Given the description of an element on the screen output the (x, y) to click on. 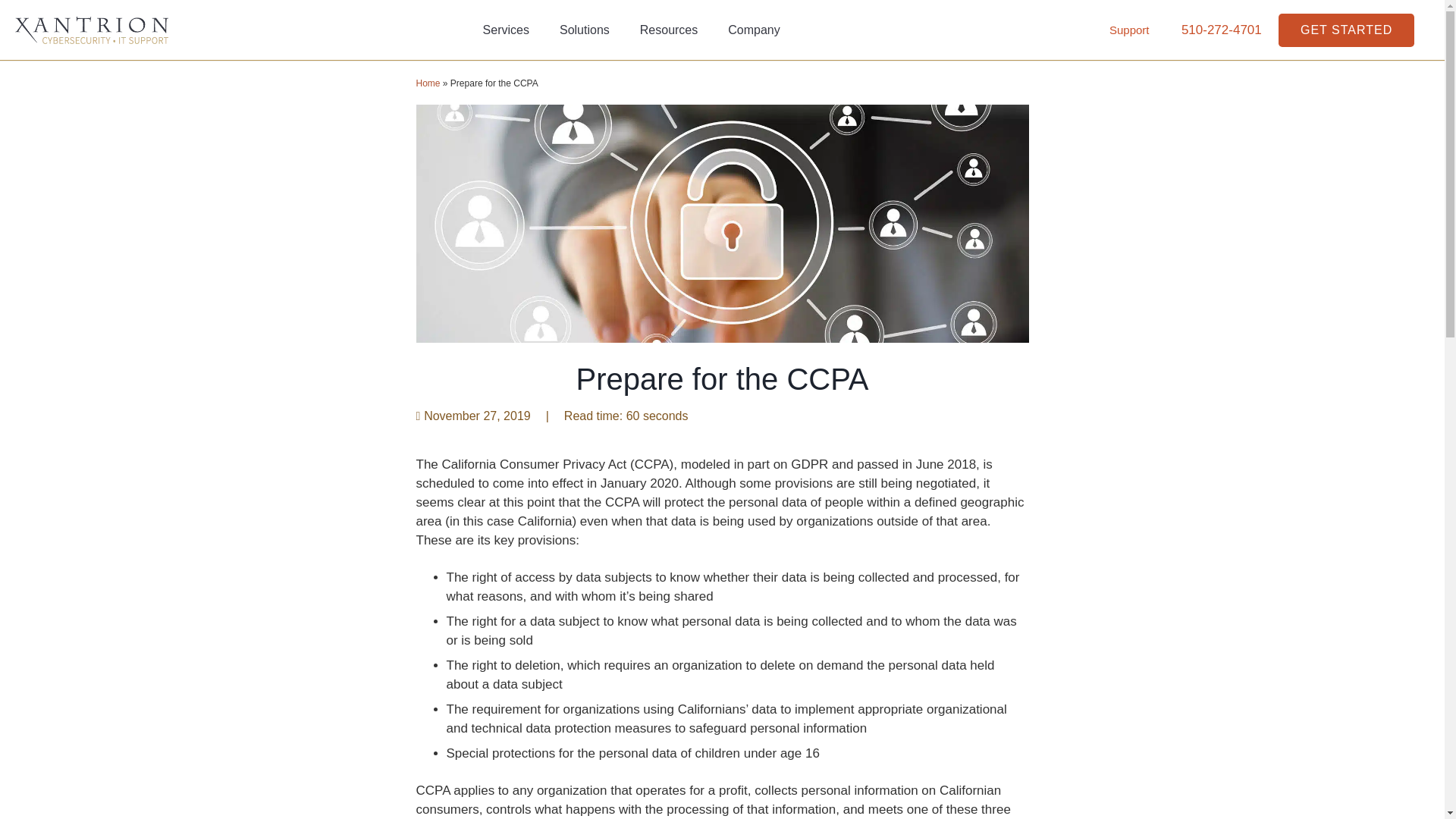
Support (1129, 30)
Services (505, 30)
Home (426, 82)
510-272-4701 (1221, 29)
Resources (668, 30)
Company (753, 30)
Solutions (584, 30)
GET STARTED (1345, 30)
